Given the description of an element on the screen output the (x, y) to click on. 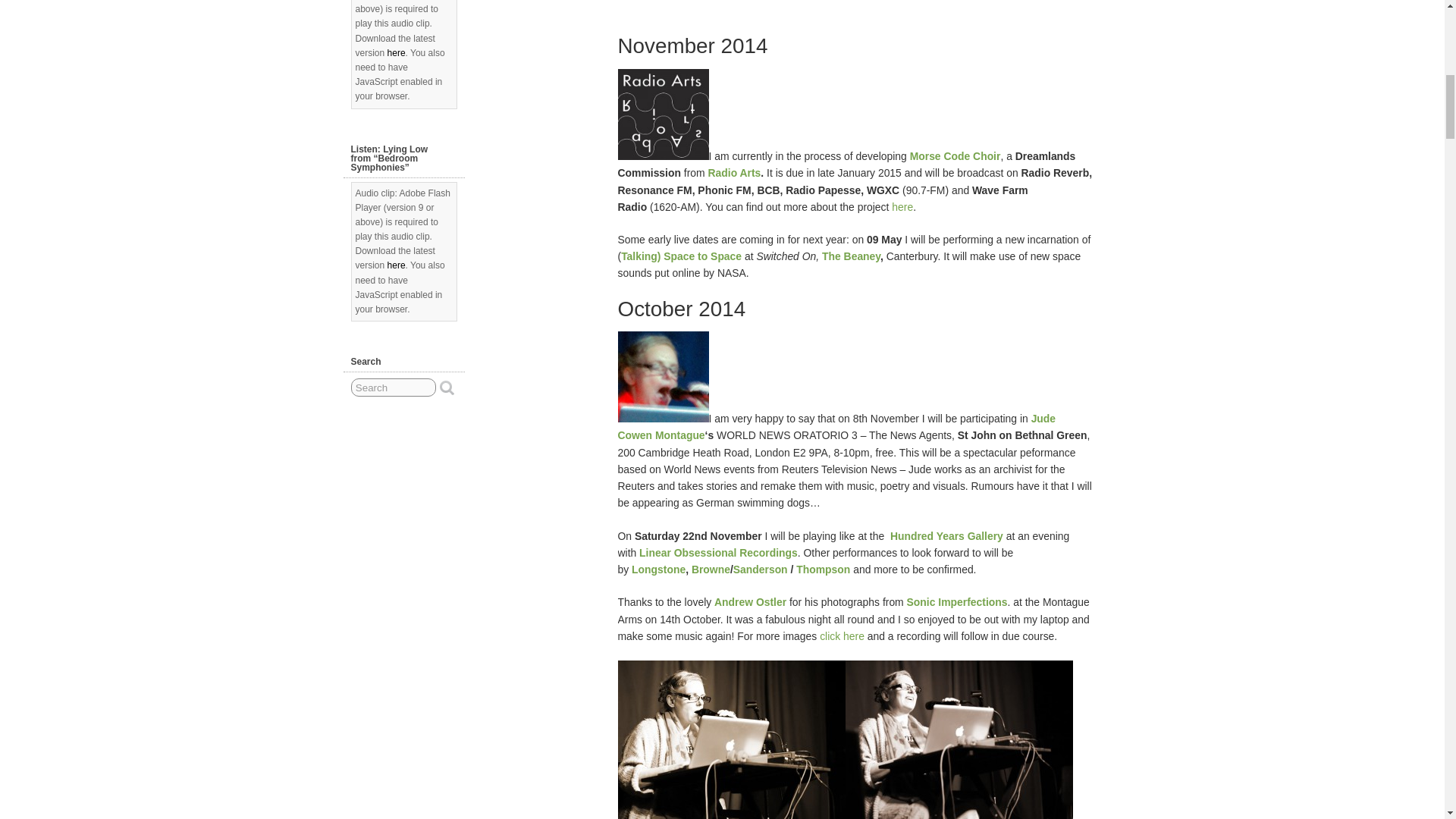
Sonic Imperfections (957, 602)
The Beaney (851, 256)
Thompson (823, 569)
Radio Arts (734, 173)
Search (392, 387)
Morse Code Choir (955, 155)
Andrew Ostler (750, 602)
Hundred Years Gallery (946, 535)
here (901, 206)
Browne (710, 569)
Longstone (658, 569)
Jude Cowen Montague (836, 426)
click here (841, 635)
Search (392, 387)
Sanderson (760, 569)
